Given the description of an element on the screen output the (x, y) to click on. 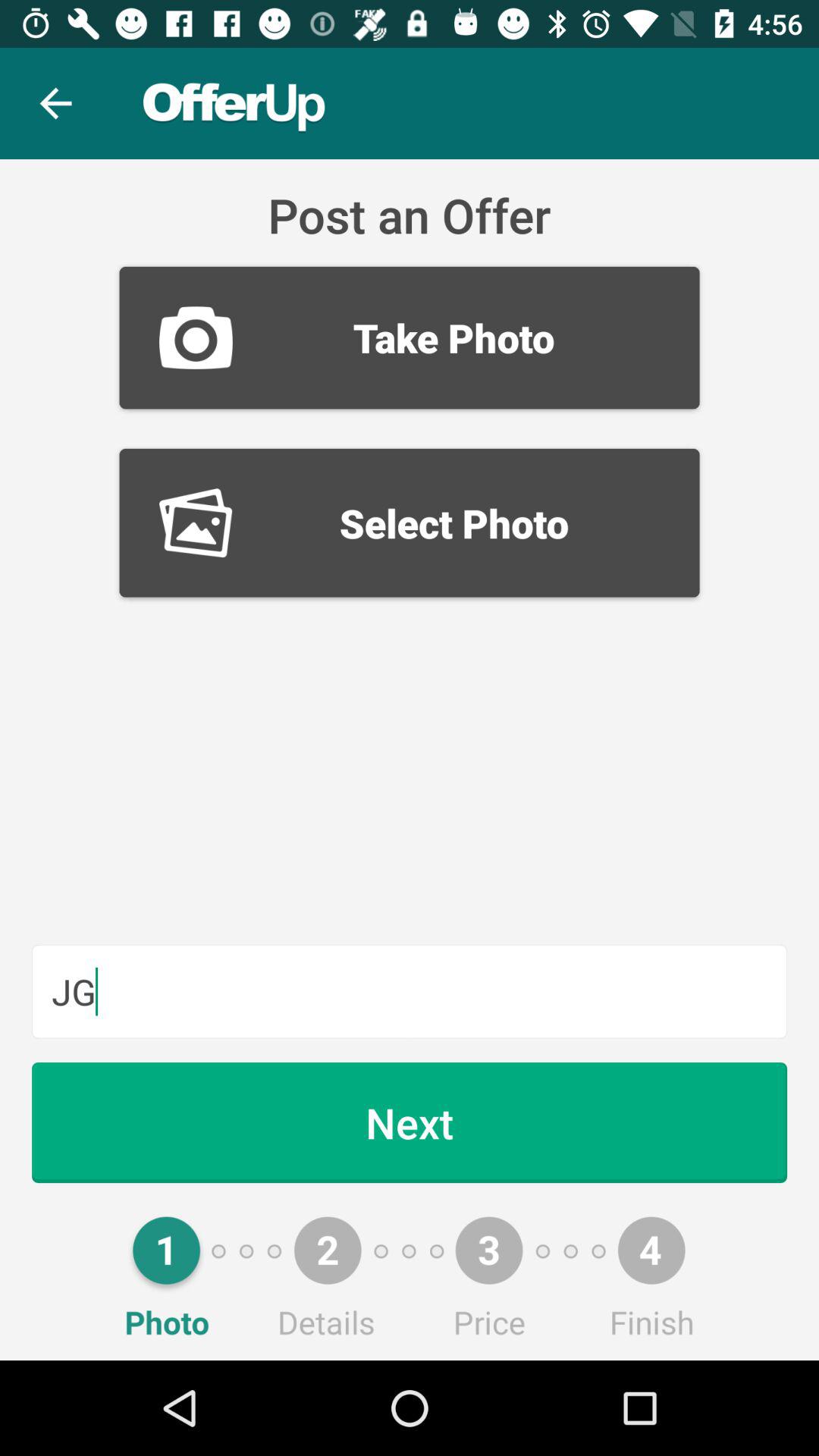
scroll until take photo icon (409, 337)
